Given the description of an element on the screen output the (x, y) to click on. 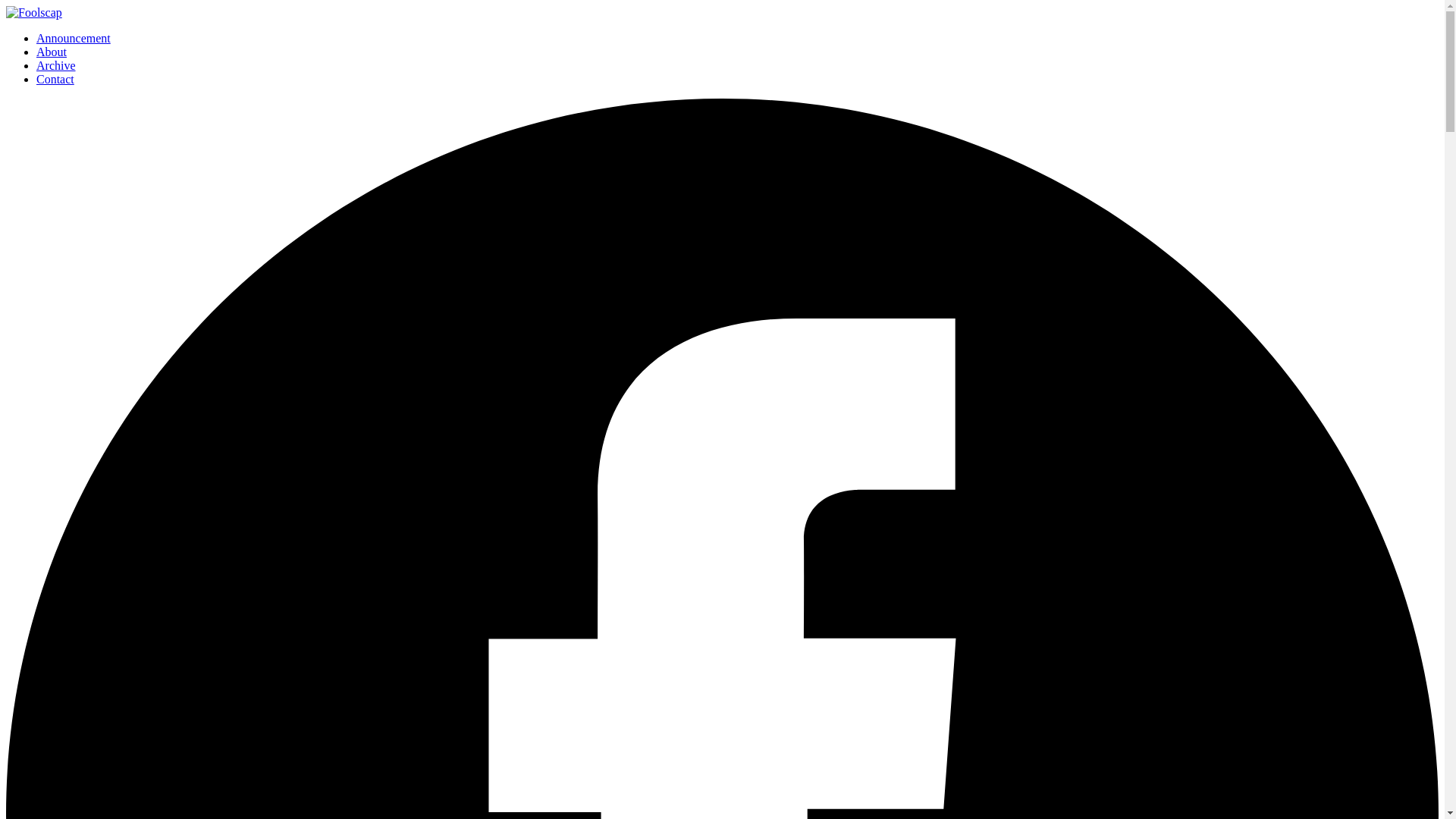
Announcement (73, 38)
Contact (55, 78)
About (51, 51)
Archive (55, 65)
